Given the description of an element on the screen output the (x, y) to click on. 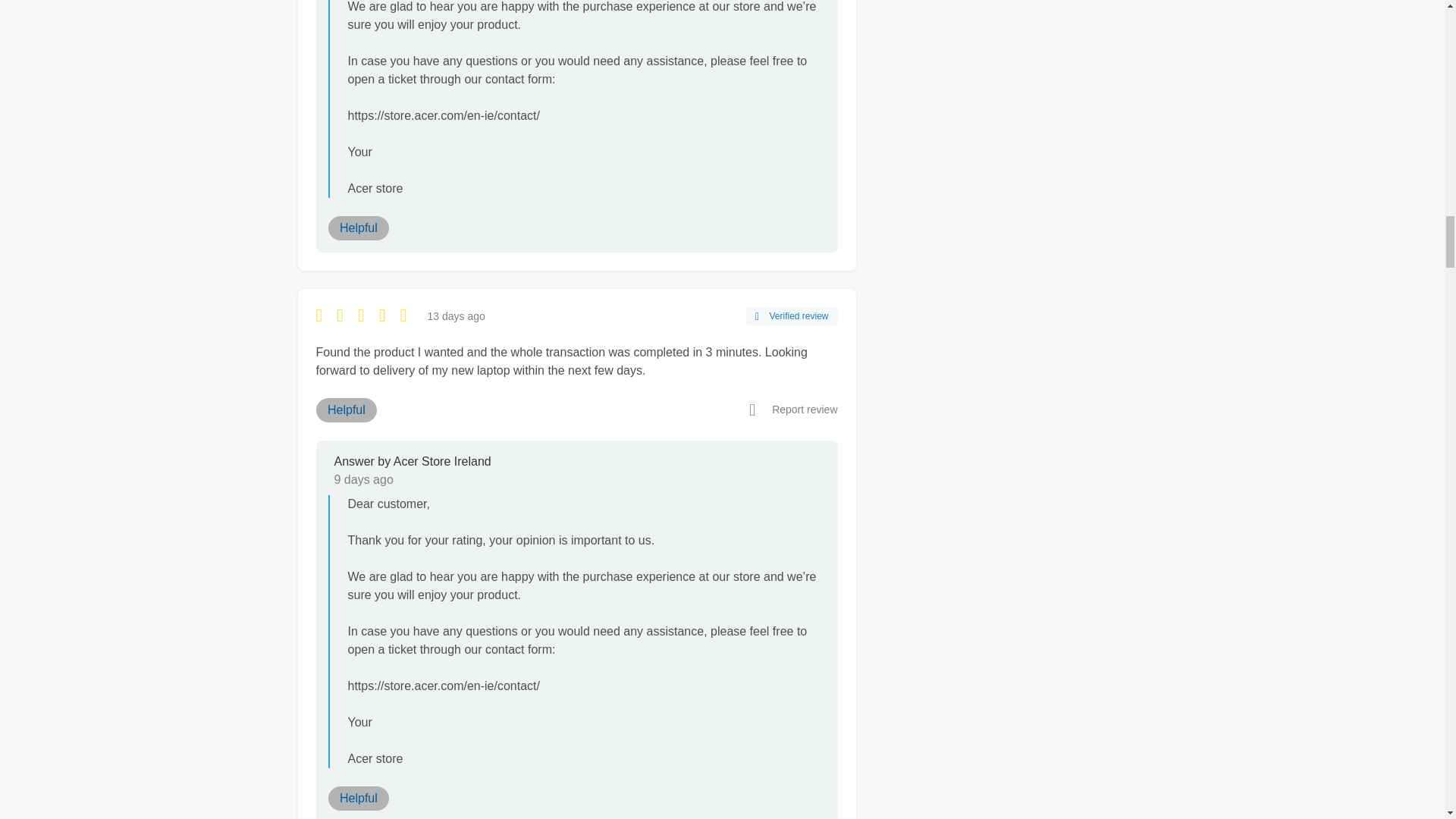
Helpful (346, 410)
Helpful (357, 228)
Helpful (357, 798)
